Given the description of an element on the screen output the (x, y) to click on. 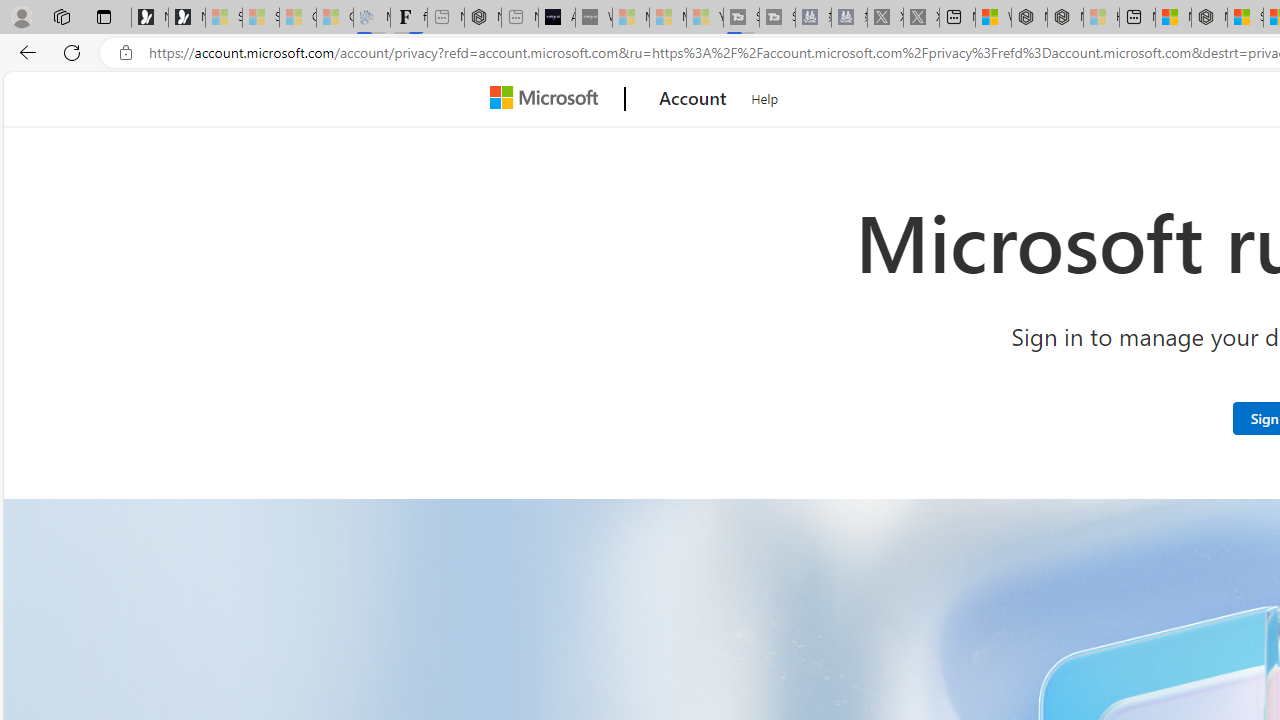
Microsoft (548, 99)
Microsoft Start - Sleeping (668, 17)
New tab - Sleeping (519, 17)
